Given the description of an element on the screen output the (x, y) to click on. 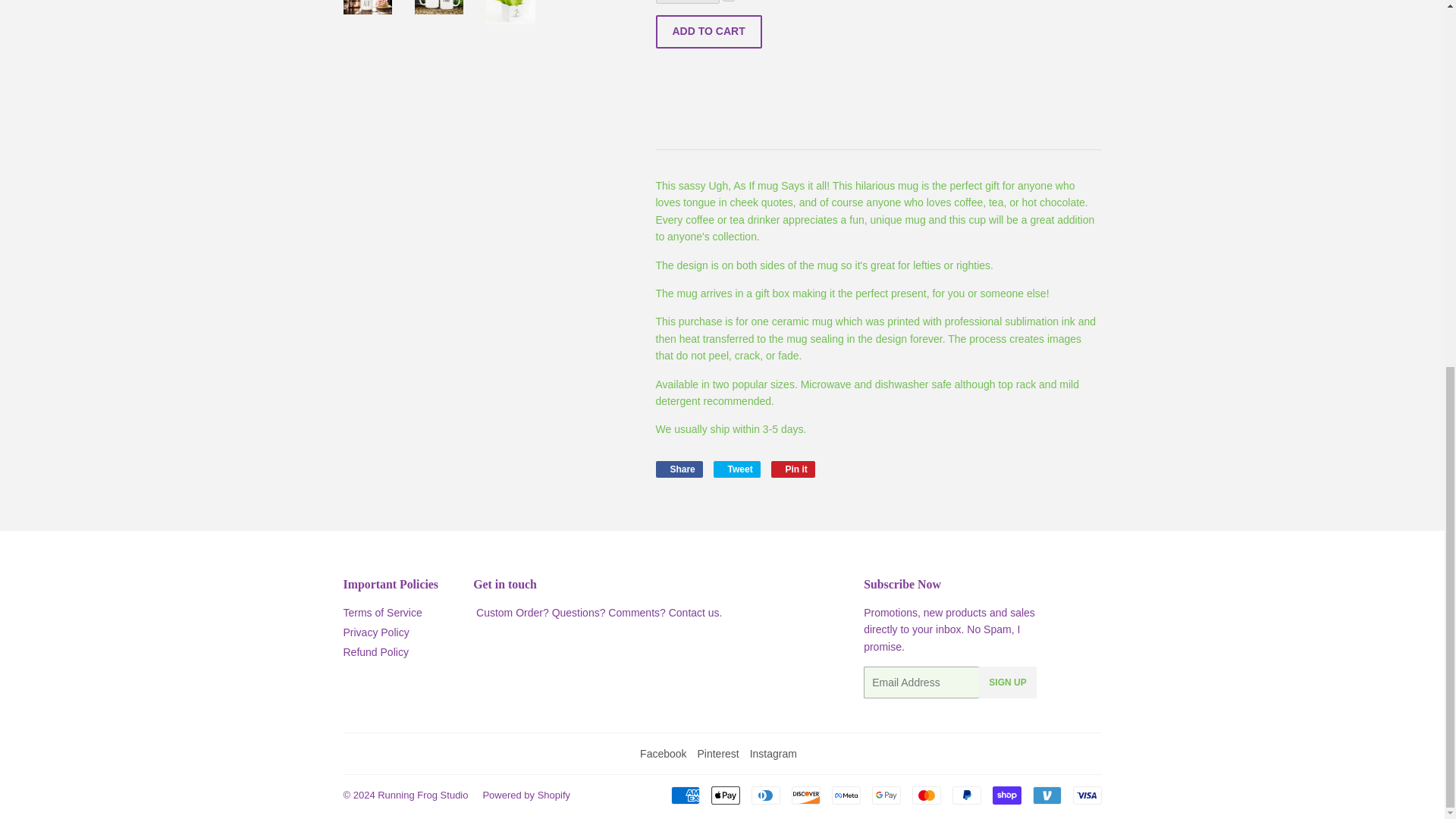
Pin on Pinterest (793, 469)
Venmo (1046, 795)
Diners Club (764, 795)
Mastercard (925, 795)
Tweet on Twitter (736, 469)
Running Frog Studio on Facebook (793, 469)
Google Pay (662, 753)
Privacy Policy (886, 795)
PayPal (736, 469)
Pinterest (375, 632)
SIGN UP (966, 795)
Running Frog Studio on Instagram (717, 753)
